Given the description of an element on the screen output the (x, y) to click on. 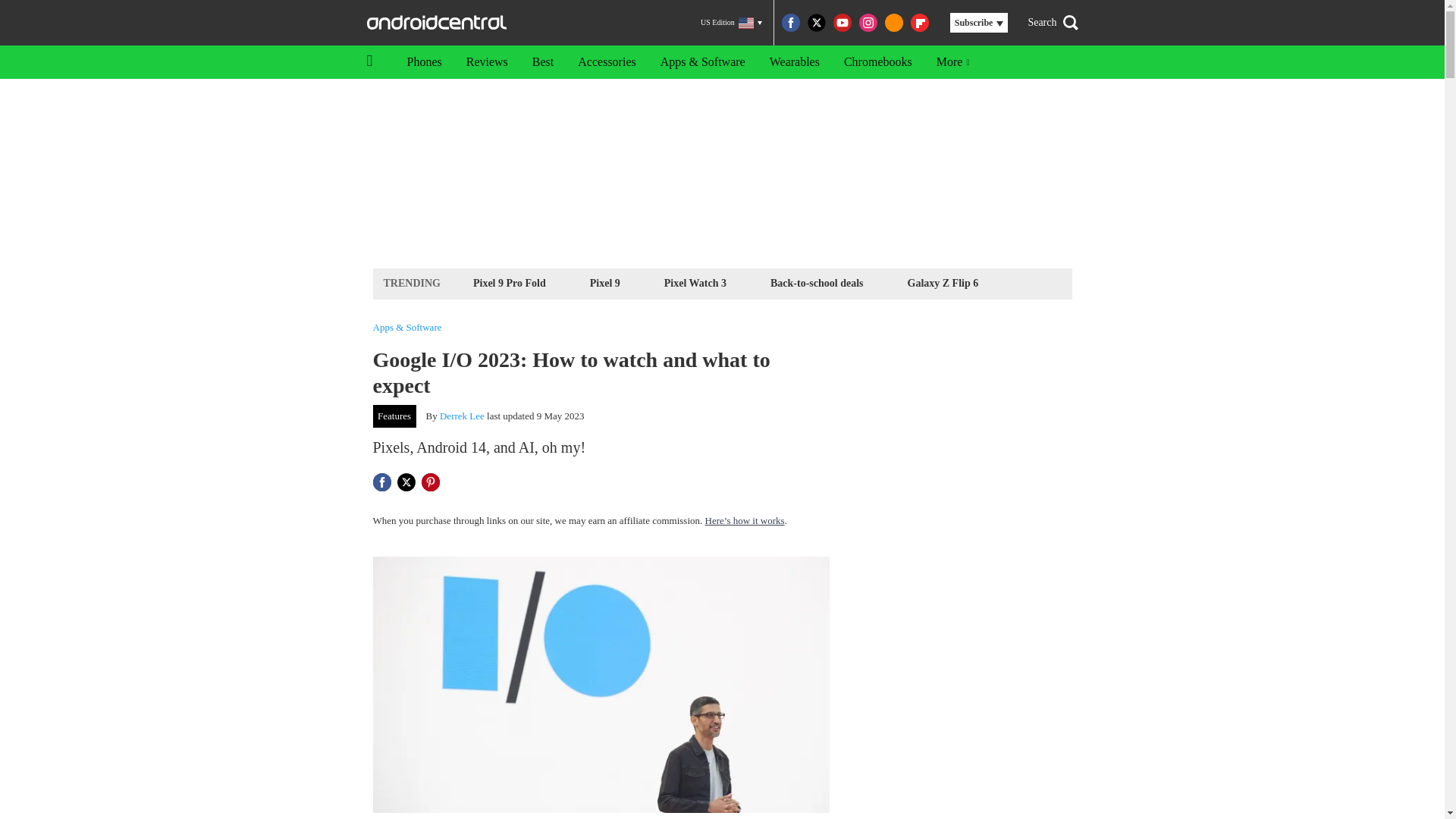
Features (394, 415)
Phones (423, 61)
Reviews (486, 61)
Accessories (606, 61)
Derrek Lee (461, 415)
Best (542, 61)
Chromebooks (877, 61)
US Edition (731, 22)
Pixel Watch 3 (695, 282)
Wearables (794, 61)
